Given the description of an element on the screen output the (x, y) to click on. 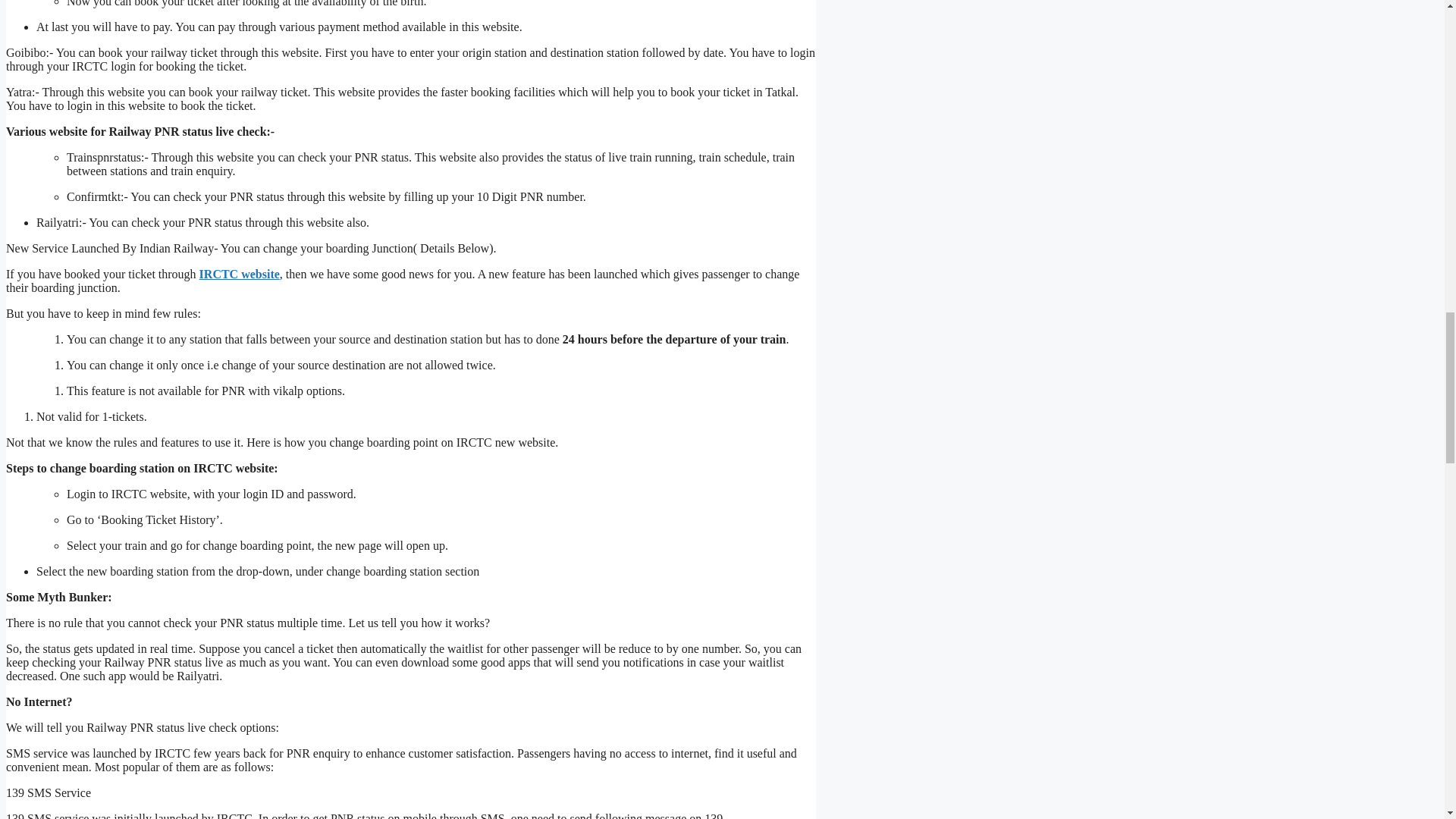
IRCTC website (239, 273)
